Given the description of an element on the screen output the (x, y) to click on. 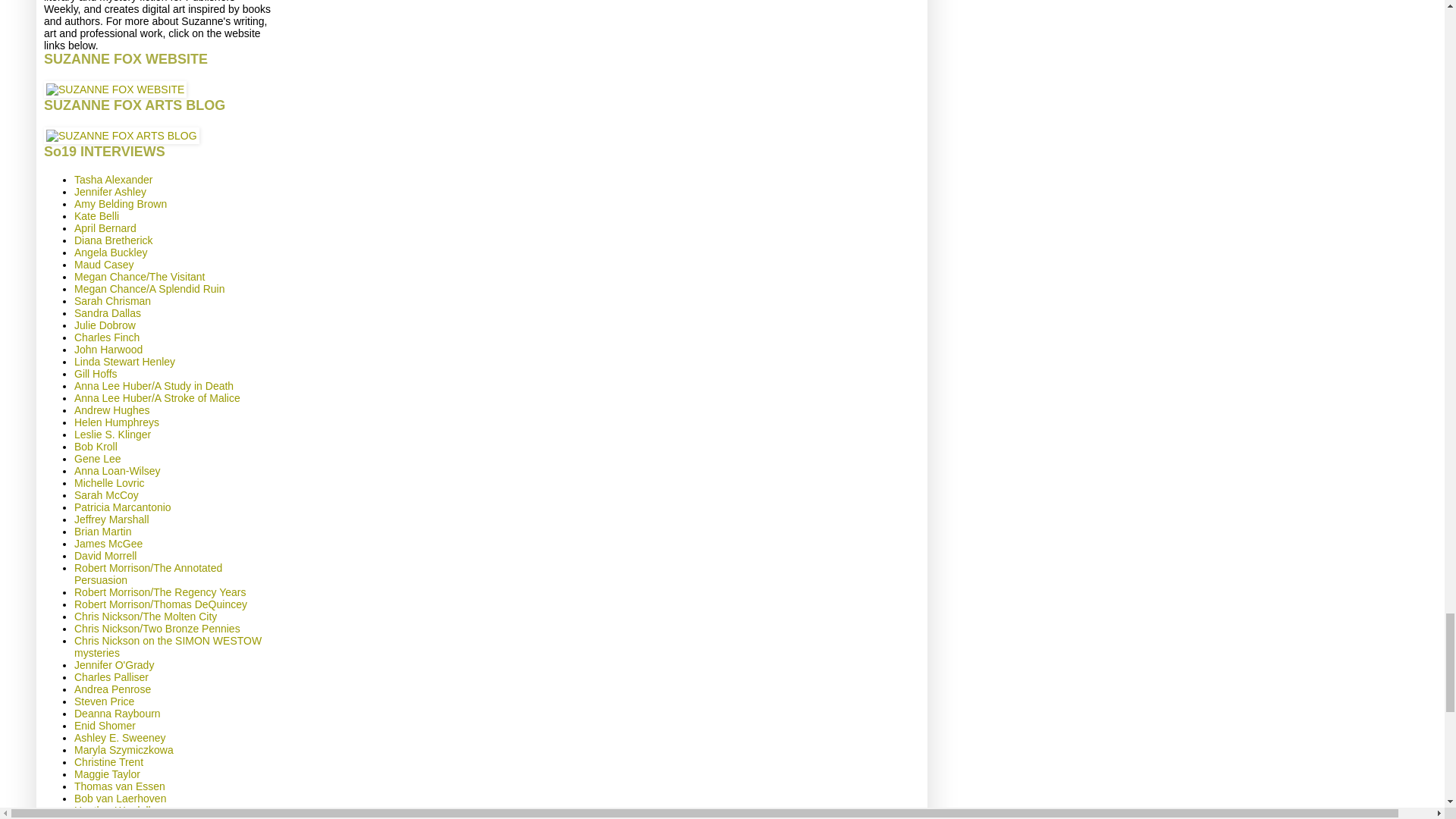
Tasha Alexander (113, 179)
Diana Bretherick (113, 240)
Jennifer Ashley (110, 191)
Sandra Dallas (107, 313)
Amy Belding Brown (120, 203)
Charles Finch (106, 337)
Julie Dobrow (104, 325)
Kate Belli (96, 215)
April Bernard (105, 227)
John Harwood (108, 349)
Angela Buckley (111, 252)
Sarah Chrisman (112, 300)
Linda Stewart Henley (124, 361)
Maud Casey (103, 264)
